Given the description of an element on the screen output the (x, y) to click on. 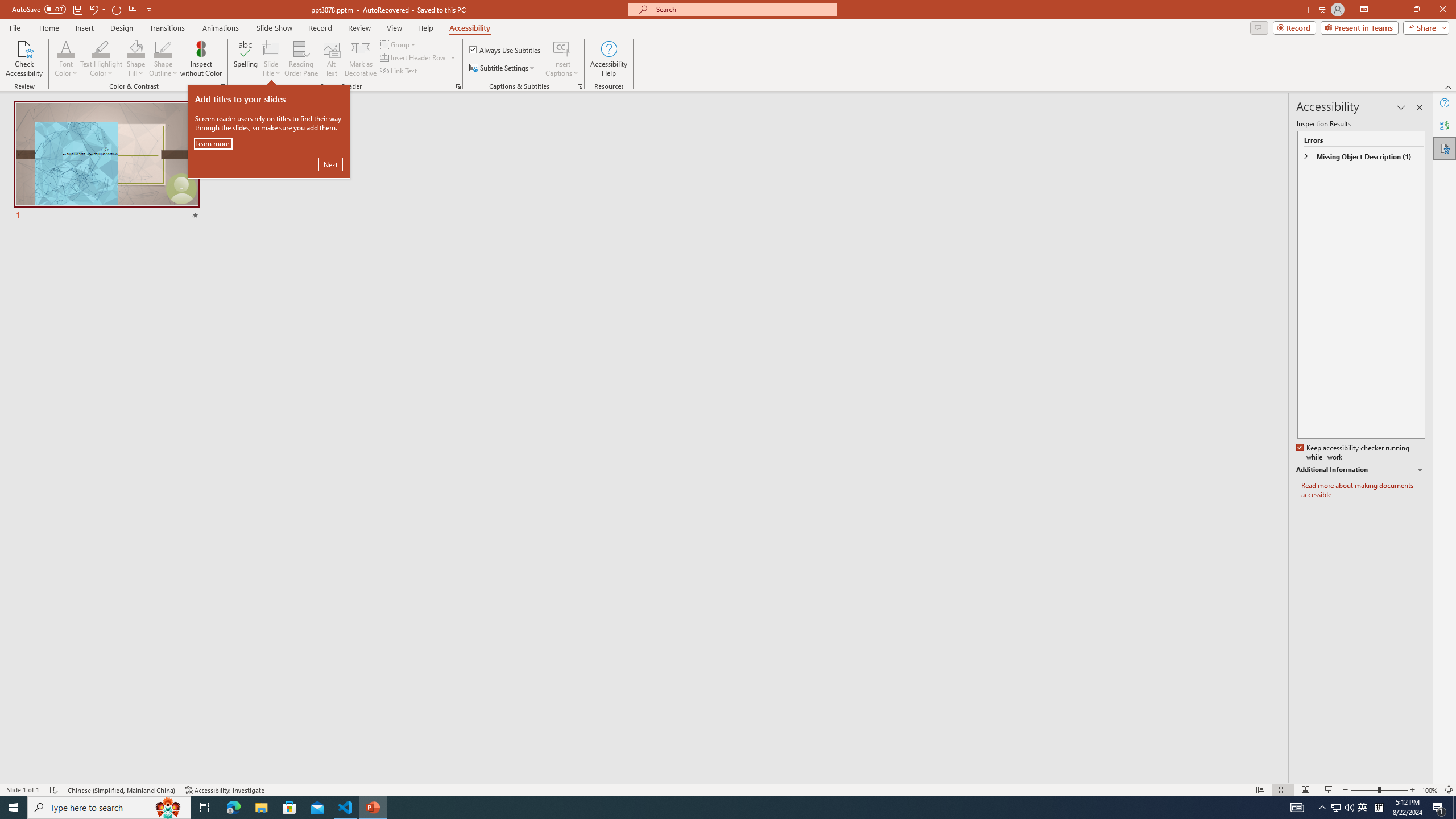
Insert Header Row (413, 56)
Always Use Subtitles (505, 49)
Action Center, 1 new notification (1439, 807)
